Given the description of an element on the screen output the (x, y) to click on. 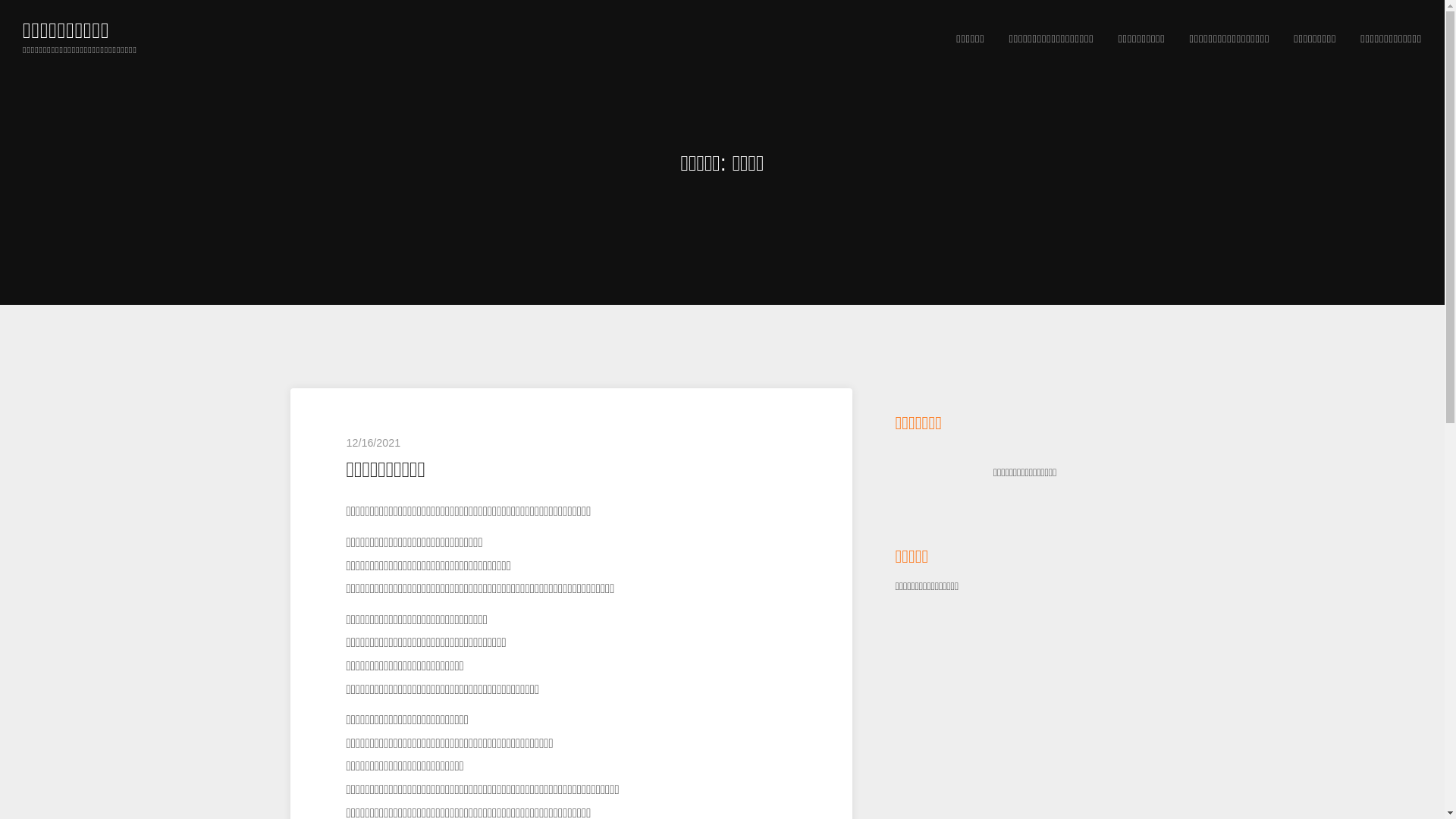
12/16/2021 Element type: text (571, 443)
